Given the description of an element on the screen output the (x, y) to click on. 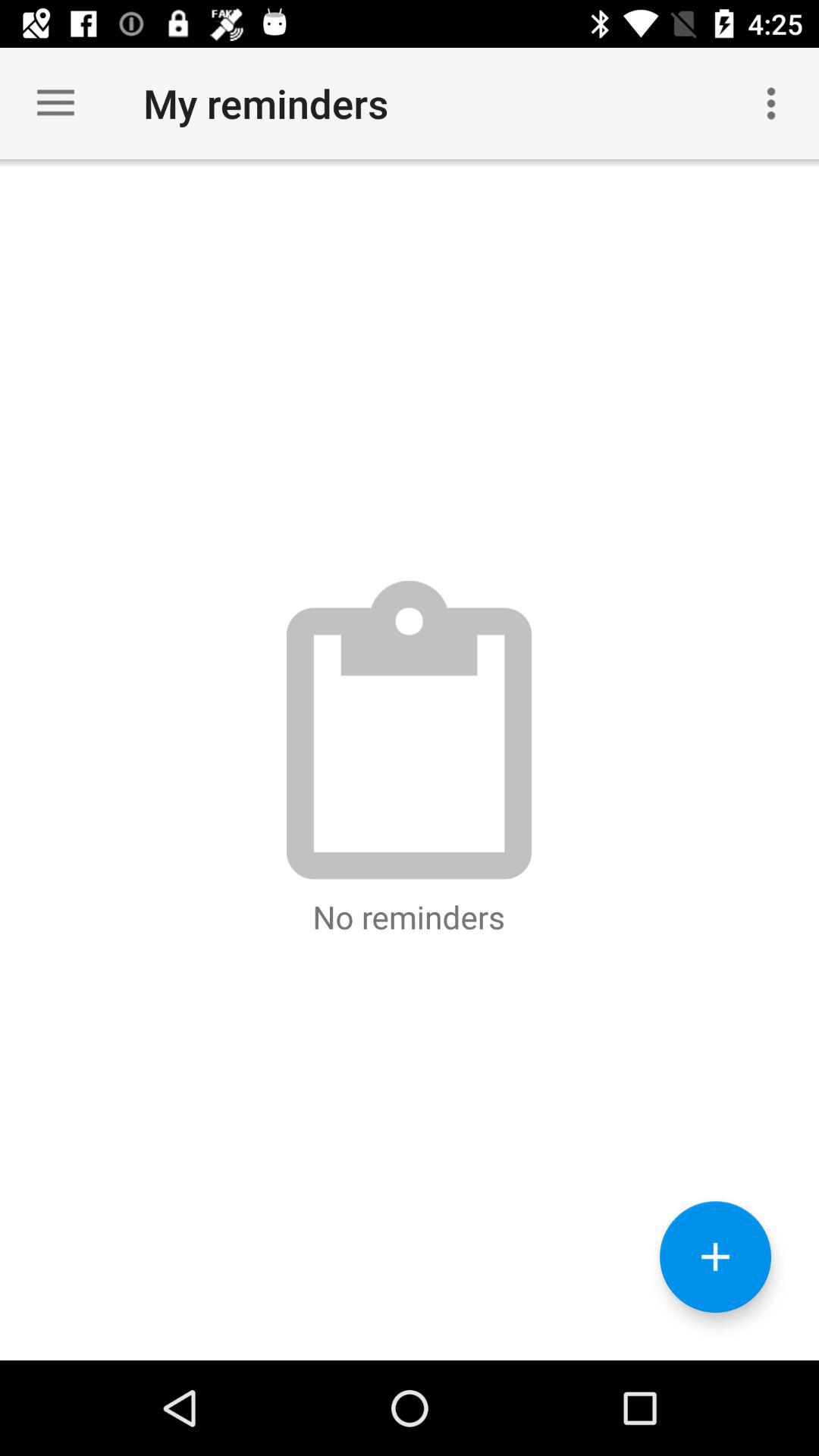
choose item at the bottom right corner (715, 1256)
